Given the description of an element on the screen output the (x, y) to click on. 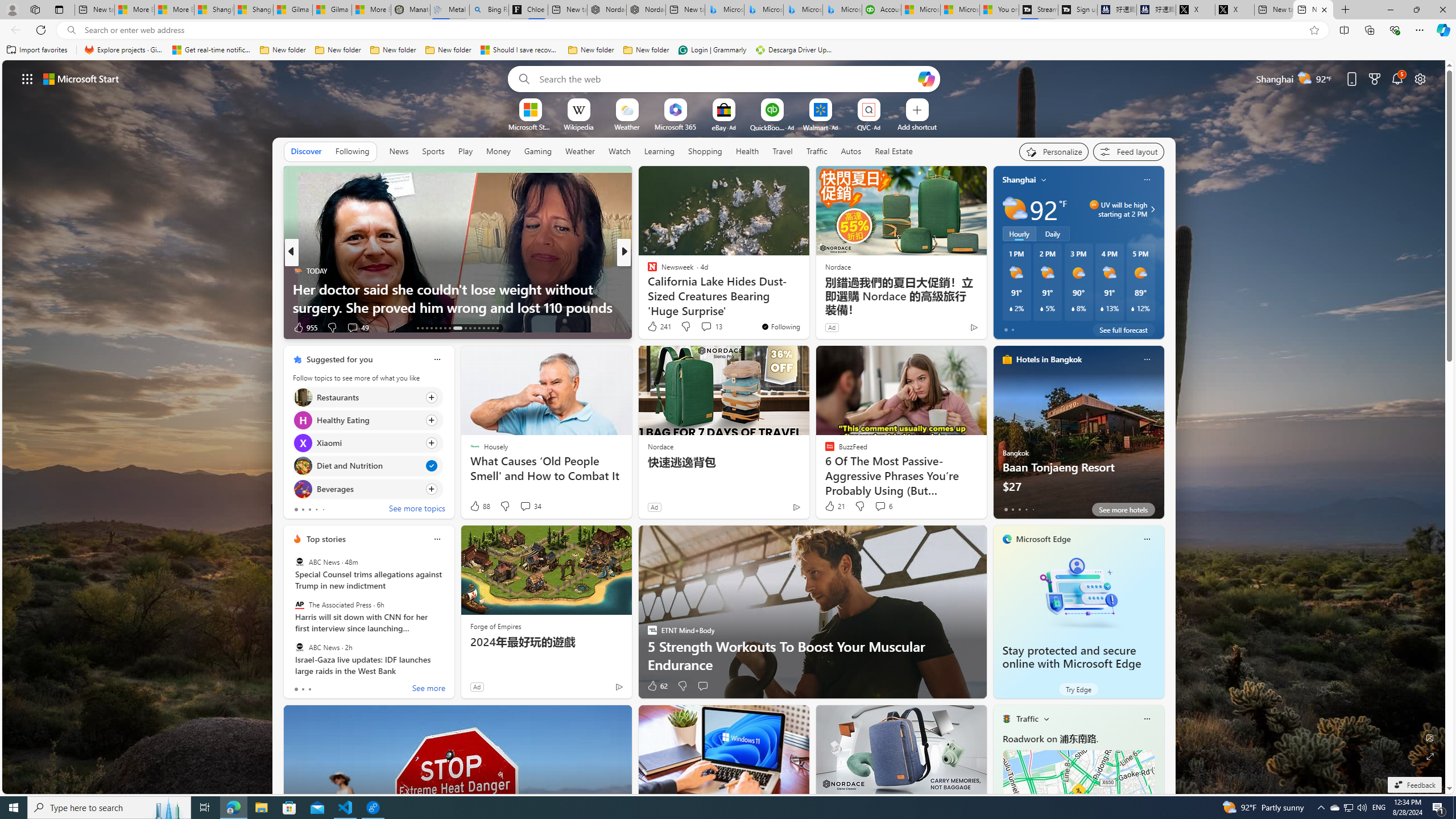
AutomationID: tab-23 (470, 328)
See full forecast (1123, 329)
Class: icon-img (1146, 718)
Travel (782, 151)
Play (465, 151)
AutomationID: tab-18 (440, 328)
Real Estate (893, 151)
Restaurants (302, 397)
Click to follow topic Beverages (367, 488)
